Given the description of an element on the screen output the (x, y) to click on. 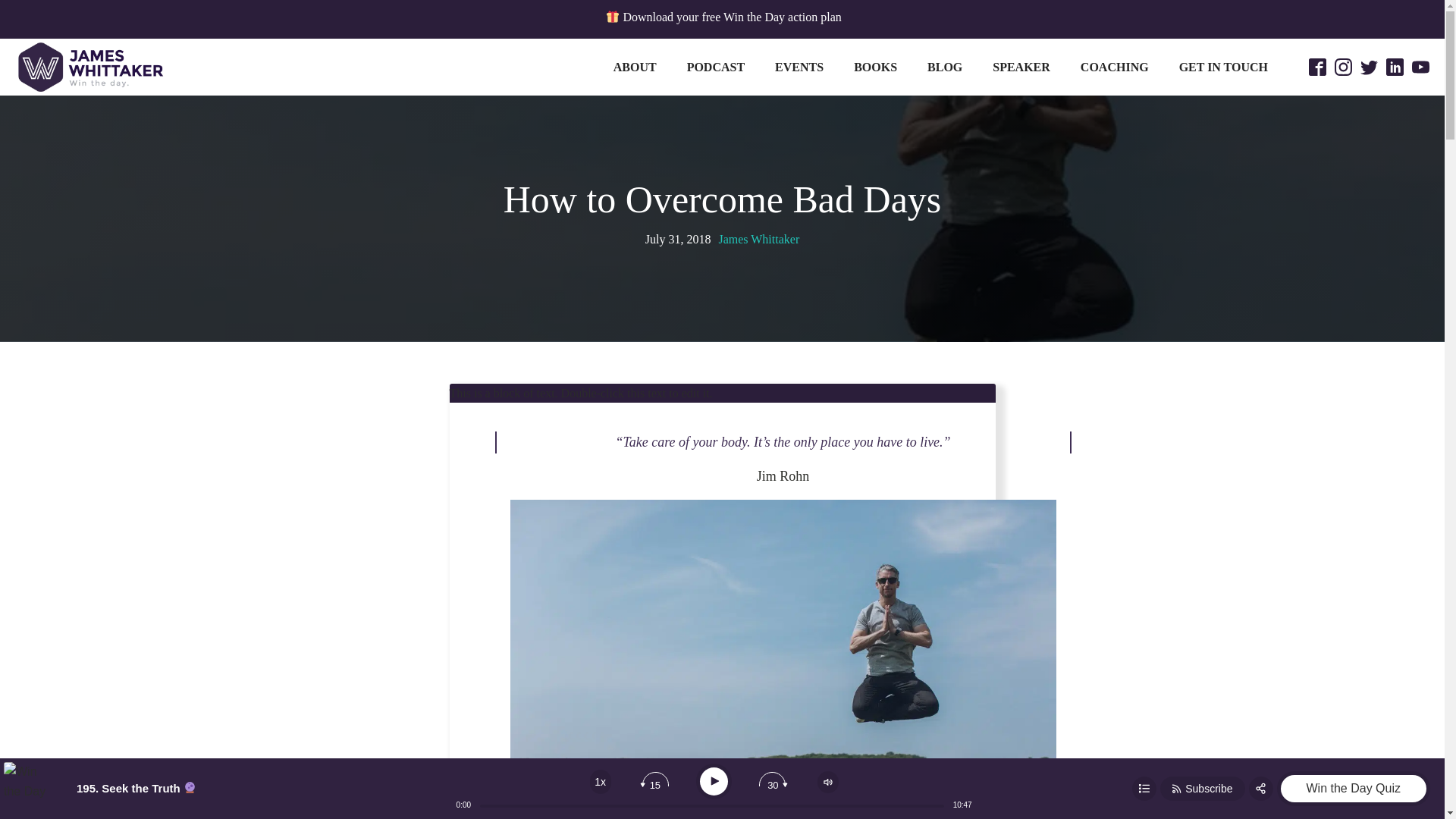
BOOKS (875, 67)
EVENTS (799, 67)
PODCAST (715, 67)
ABOUT (634, 67)
COACHING (1114, 67)
SPEAKER (1020, 67)
GET IN TOUCH (1222, 67)
BLOG (944, 67)
  Download your free Win the Day action plan (721, 17)
